Given the description of an element on the screen output the (x, y) to click on. 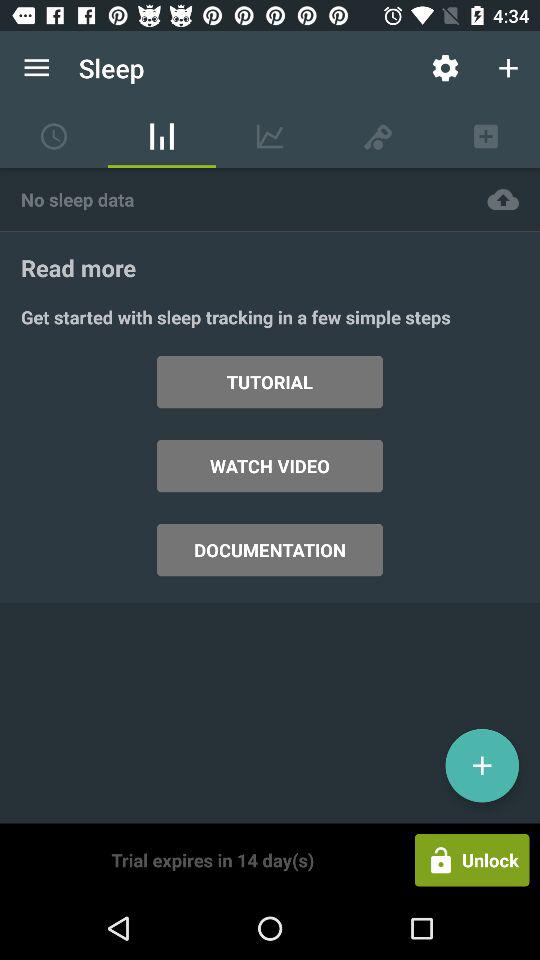
scroll to no sleep data (233, 198)
